Given the description of an element on the screen output the (x, y) to click on. 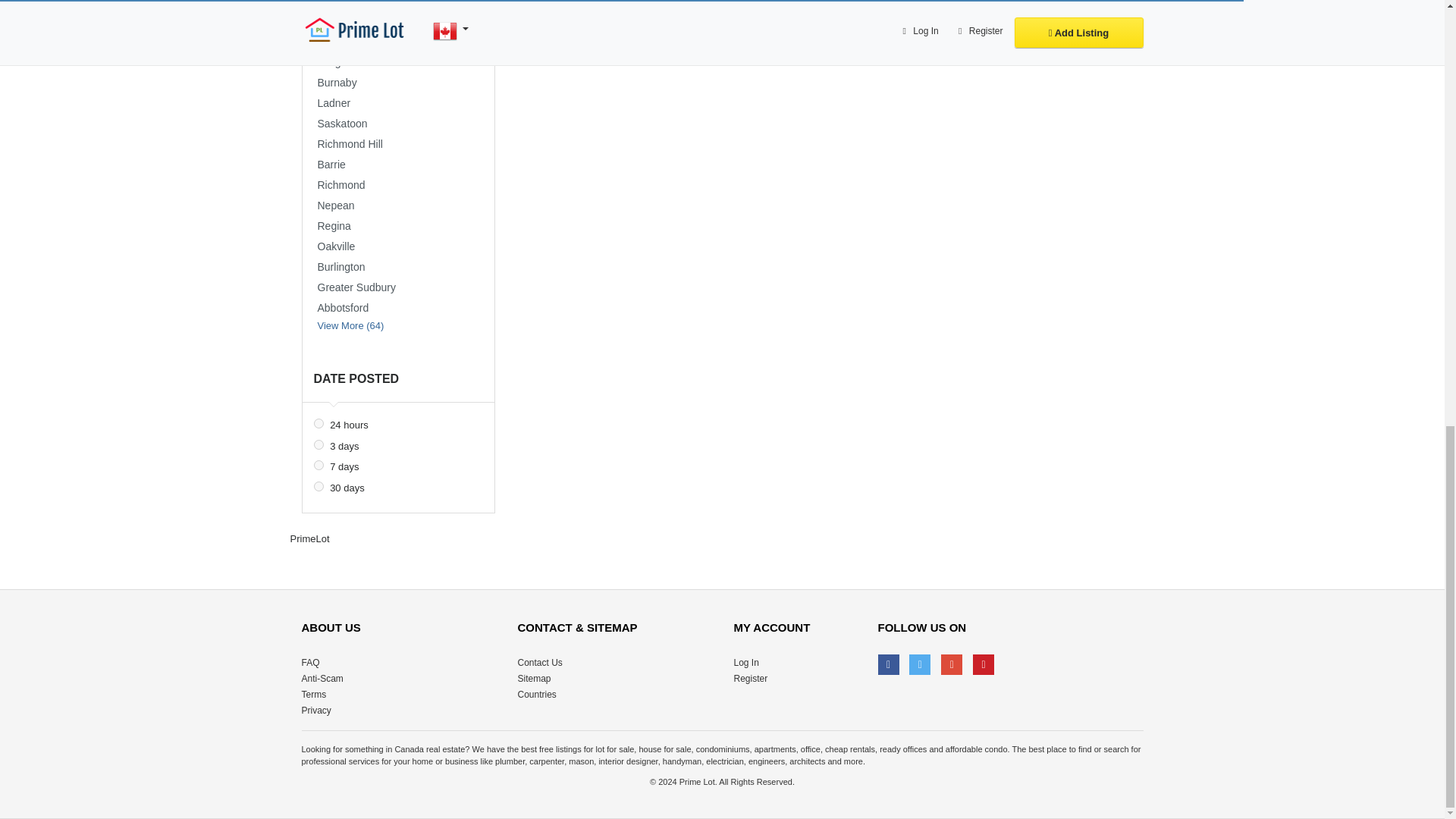
8 (318, 465)
31 (318, 486)
2 (318, 423)
4 (318, 444)
